Given the description of an element on the screen output the (x, y) to click on. 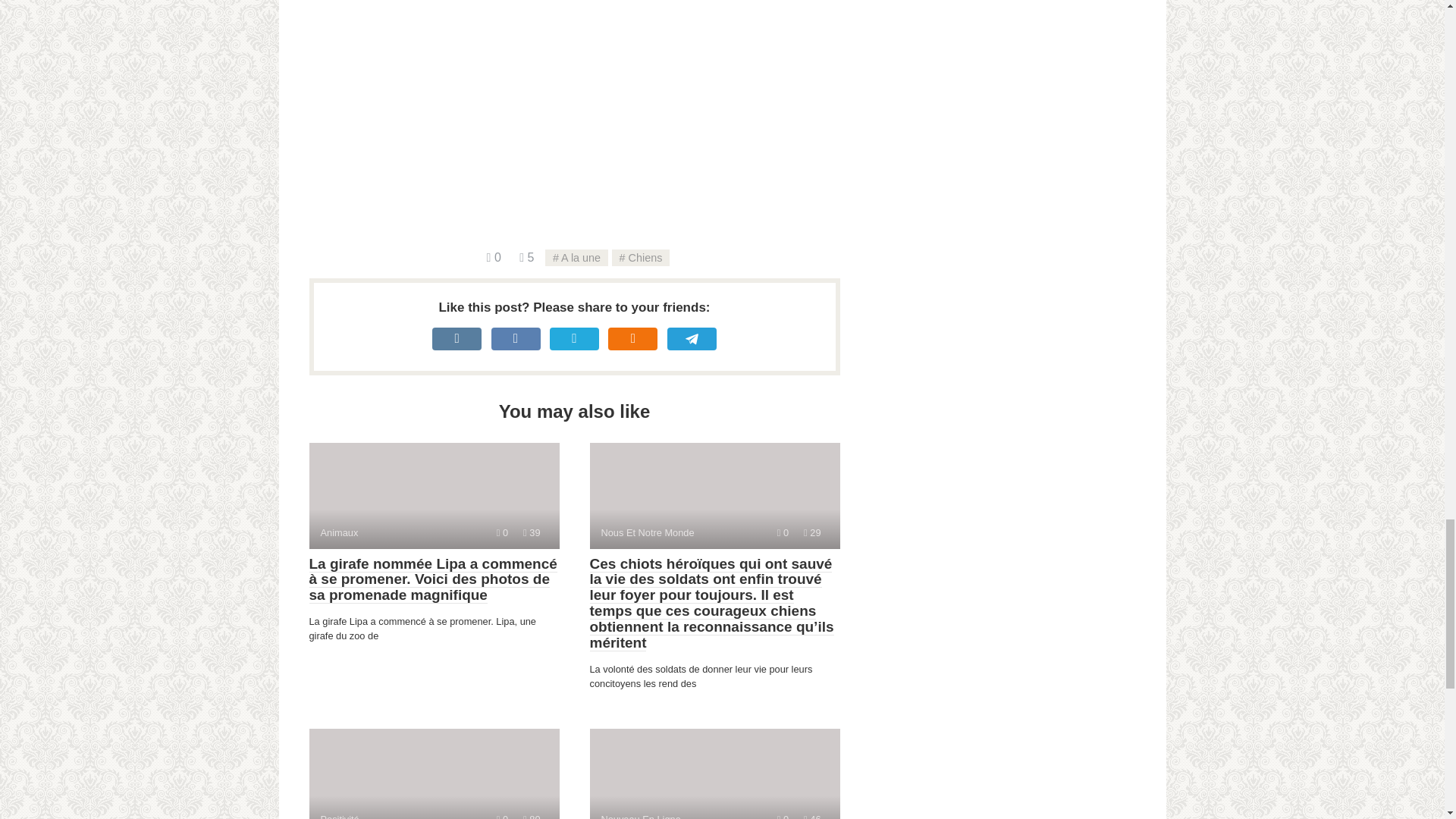
Comments (502, 816)
Chiens (640, 257)
Views (526, 256)
Advertisement (714, 773)
Views (433, 495)
Comments (585, 123)
Views (812, 532)
A la une (493, 256)
Comments (812, 816)
Views (576, 257)
Comments (502, 532)
Views (531, 816)
